Given the description of an element on the screen output the (x, y) to click on. 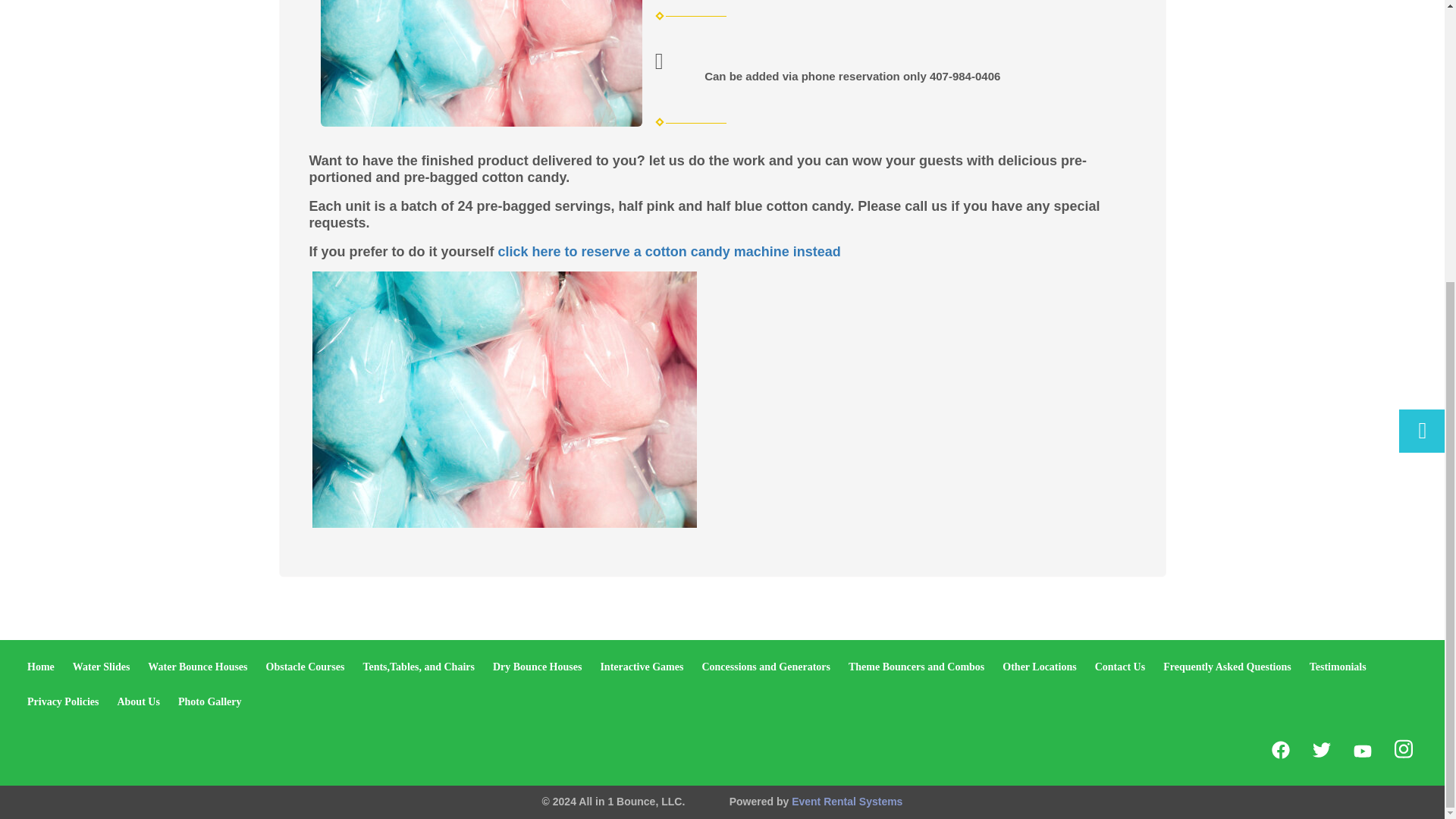
Water Slides (101, 666)
click here to reserve a cotton candy machine instead (669, 251)
Interactive Games (640, 666)
Pre-bagged cotton candy (481, 63)
Home (41, 666)
Water Bounce Houses (197, 666)
Tents,Tables, and Chairs (418, 666)
Obstacle Courses (305, 666)
Concessions and Generators (765, 666)
Theme Bouncers and Combos (916, 666)
